Given the description of an element on the screen output the (x, y) to click on. 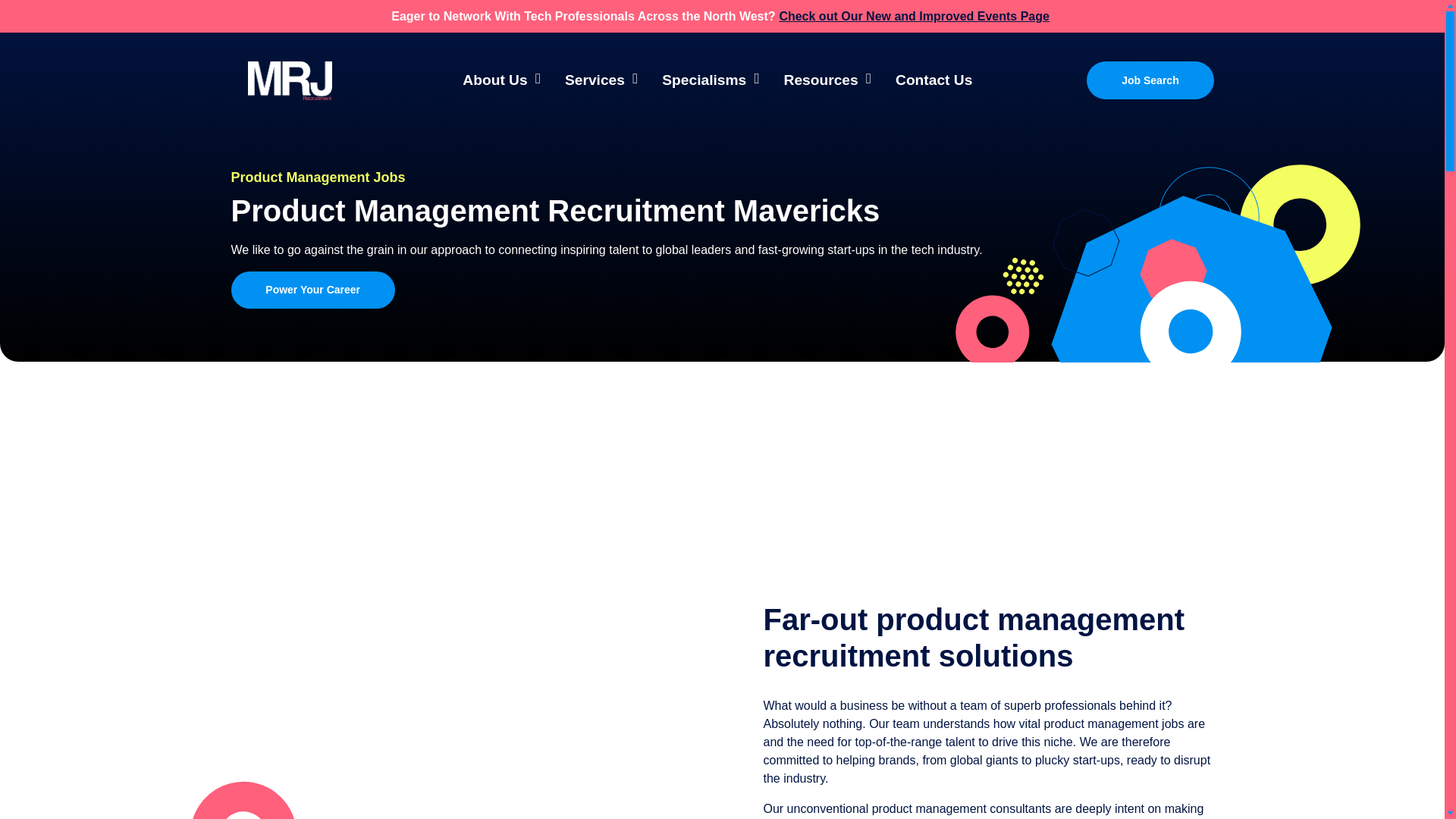
Contact Us (933, 80)
About Us (501, 80)
Job Search (1149, 79)
Resources (827, 80)
Services (601, 80)
Specialisms (710, 80)
Check out Our New and Improved Events Page (913, 16)
